Given the description of an element on the screen output the (x, y) to click on. 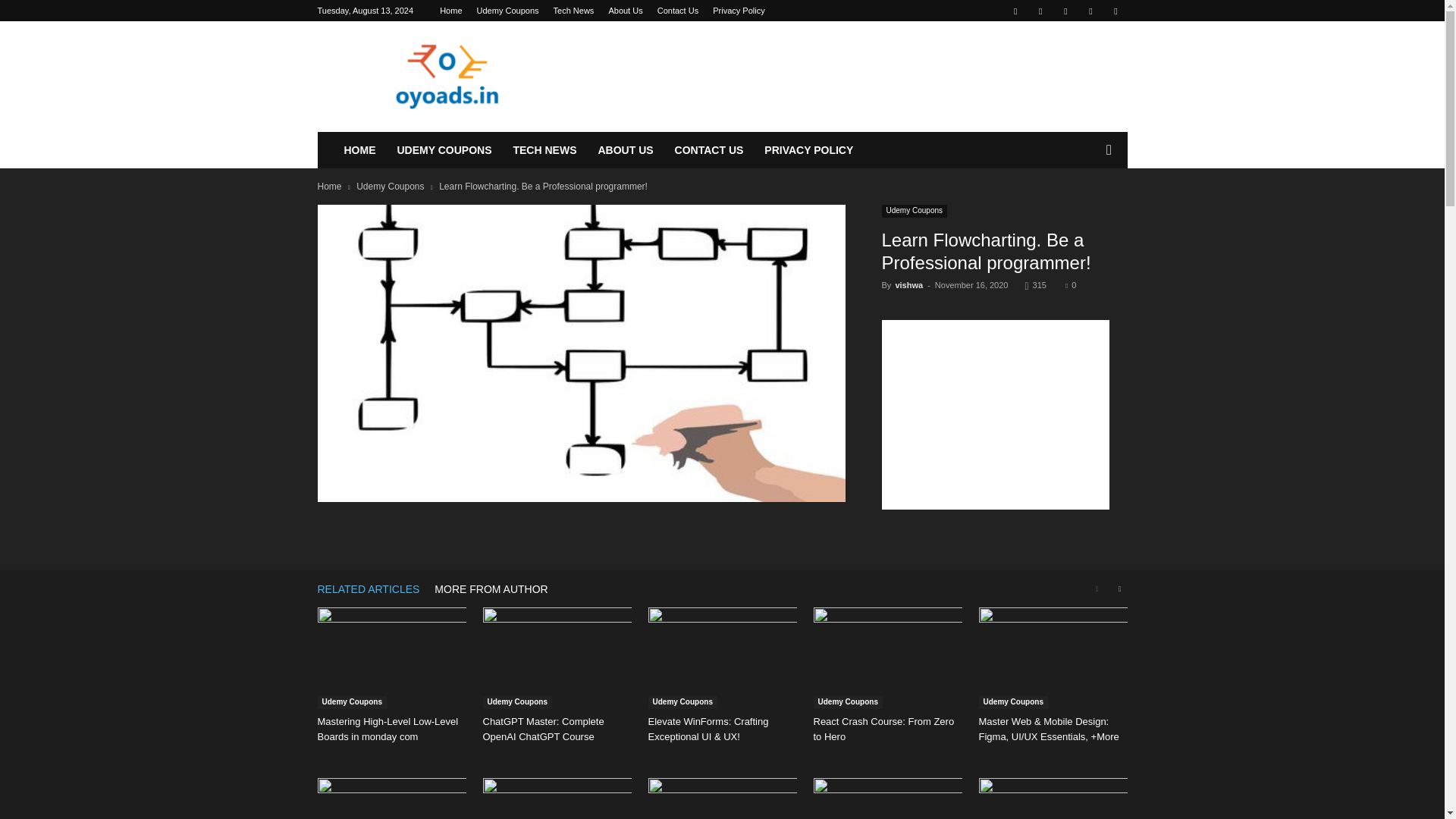
View all posts in Udemy Coupons (389, 185)
Mastering High-Level Low-Level Boards in monday com (391, 657)
Facebook (1015, 10)
Twitter (1040, 10)
Advertisement (995, 414)
VKontakte (1090, 10)
Youtube (1114, 10)
Vimeo (1065, 10)
